Given the description of an element on the screen output the (x, y) to click on. 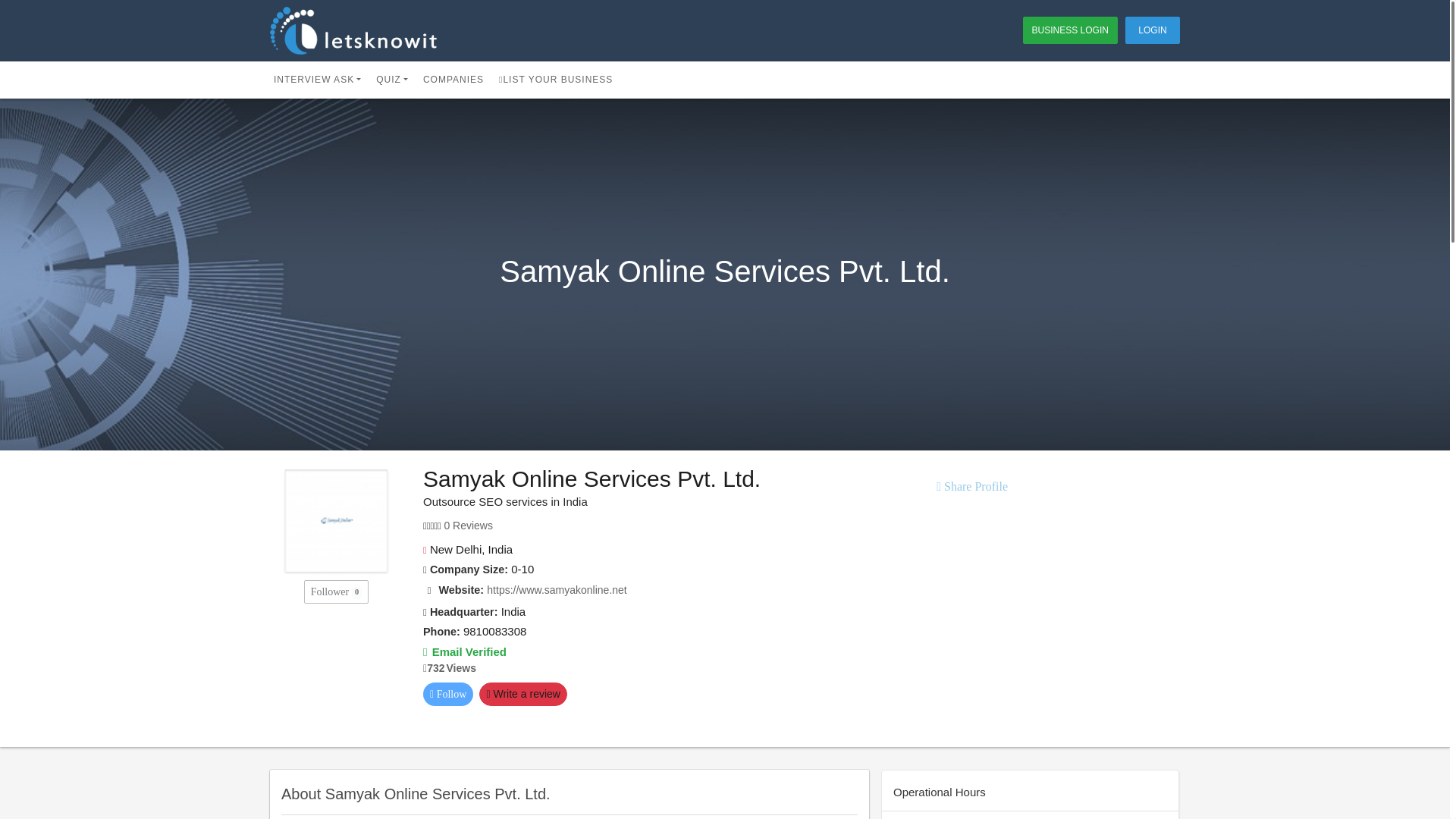
LIST YOUR BUSINESS (555, 78)
INTERVIEW ASK (317, 78)
QUIZ (392, 78)
LOGIN (1152, 30)
BUSINESS LOGIN (1070, 30)
COMPANIES (453, 78)
